Given the description of an element on the screen output the (x, y) to click on. 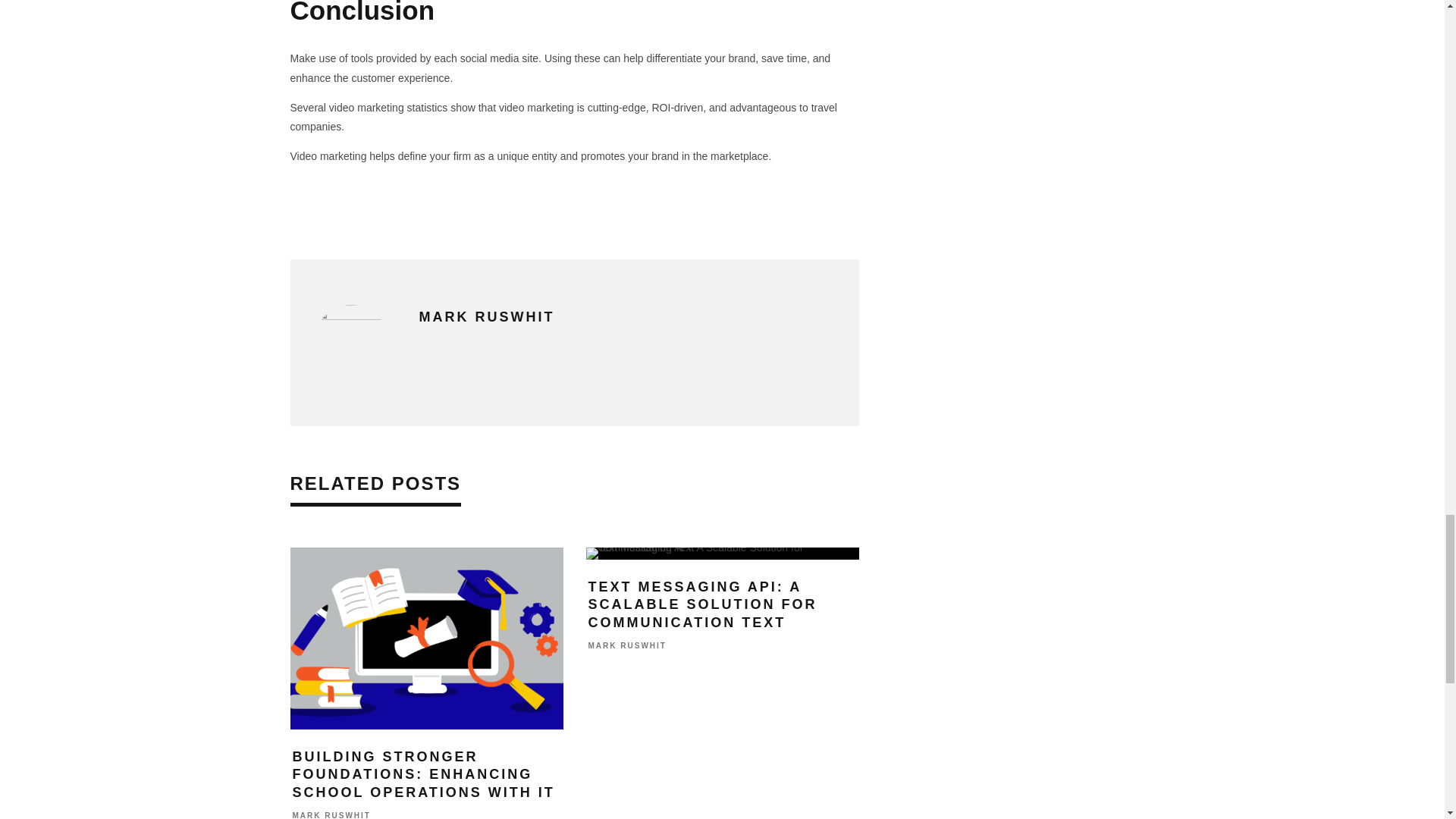
MARK RUSWHIT (627, 646)
MARK RUSWHIT (486, 316)
MARK RUSWHIT (331, 815)
